Given the description of an element on the screen output the (x, y) to click on. 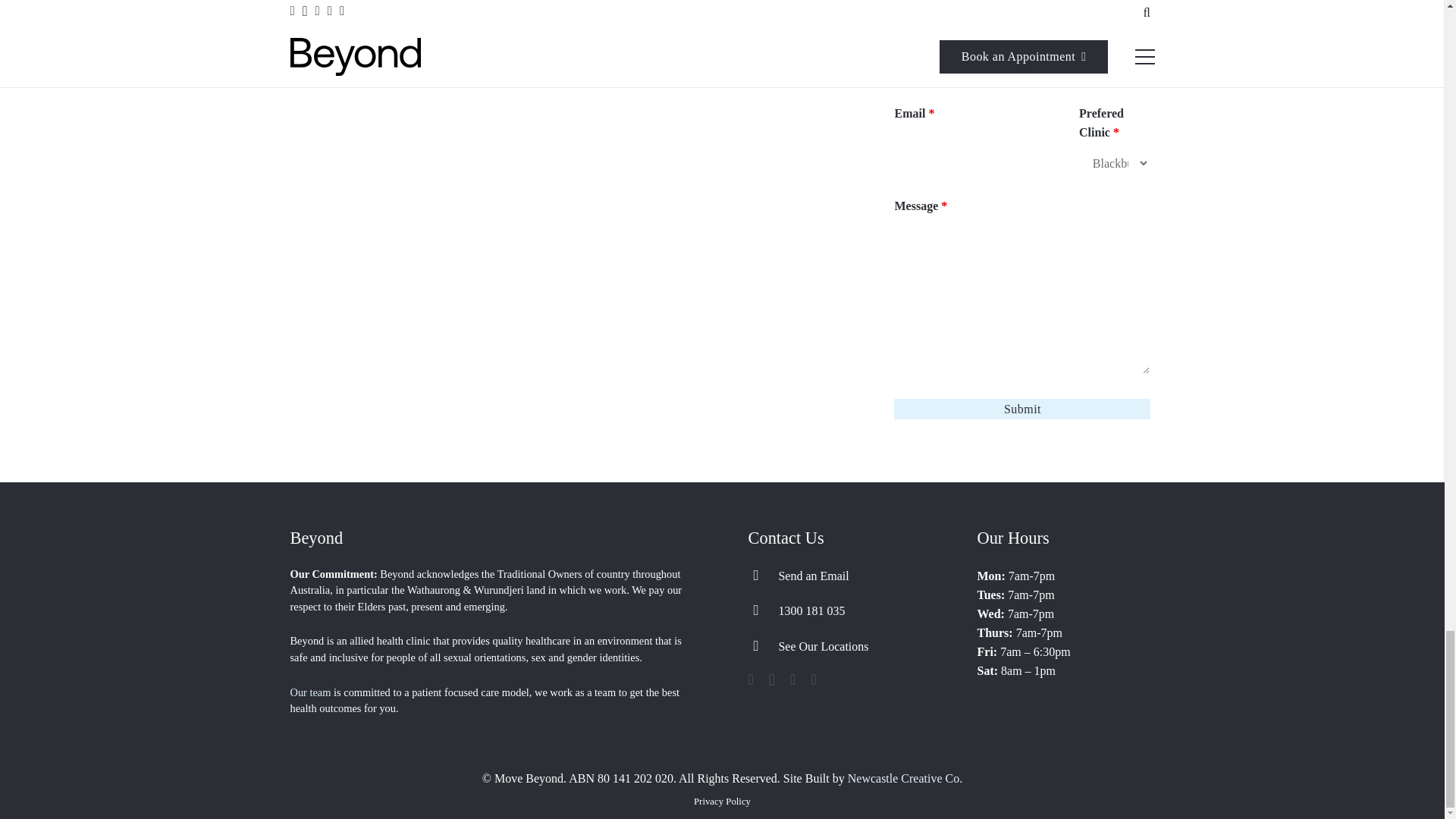
Locations (822, 646)
Locations (762, 646)
Submit (1021, 268)
